Given the description of an element on the screen output the (x, y) to click on. 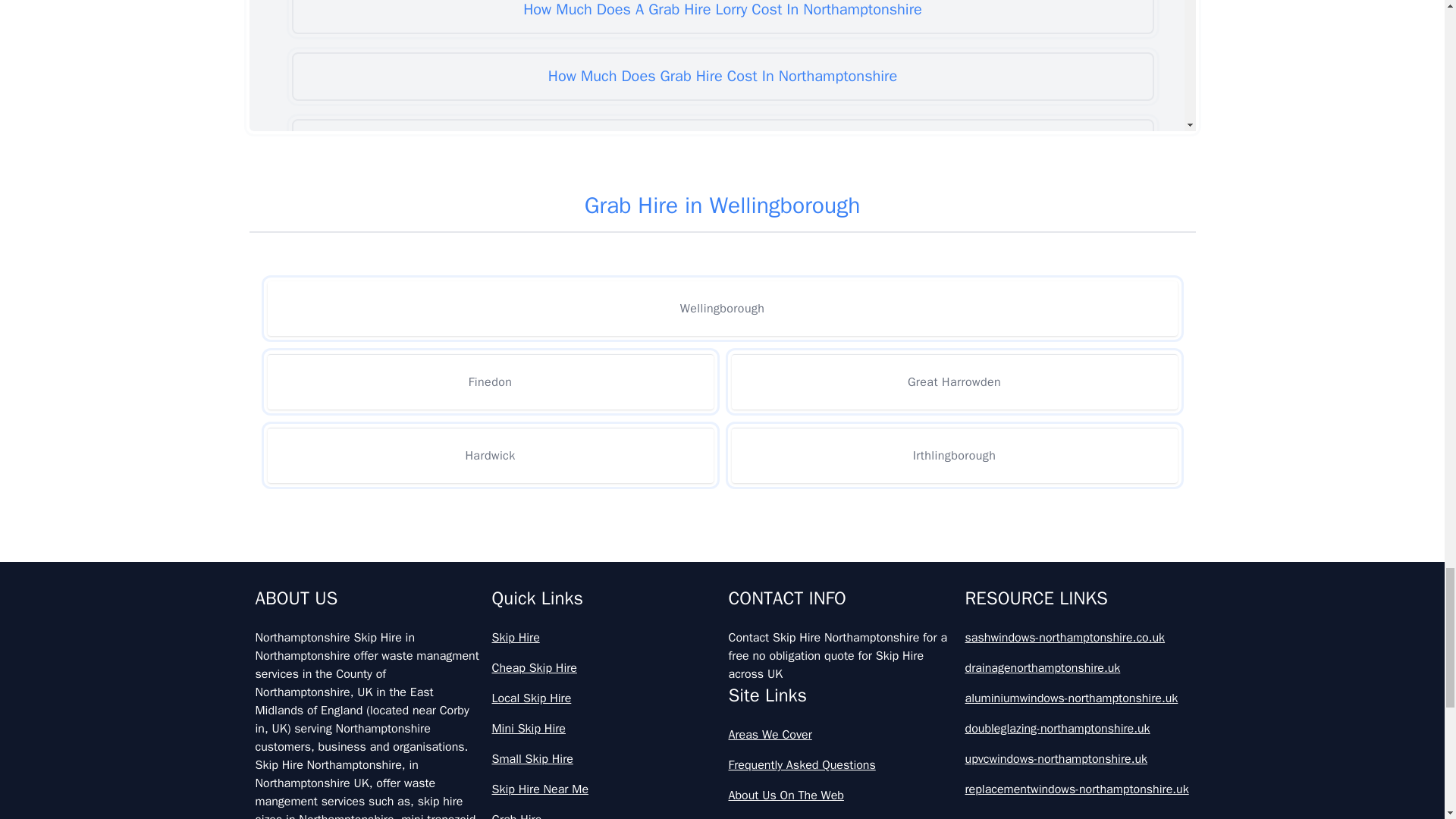
How Much Is Grab Hire In Northamptonshire (722, 409)
How Much Does Grab Hire Cost In Northamptonshire (722, 76)
How Much Is A Grab Lorry To Hire In Northamptonshire (722, 343)
Is Grab Hire Cheaper Than A Skip In Northamptonshire (722, 610)
drainagenorthamptonshire.uk (1076, 668)
upvcwindows-northamptonshire.uk (1076, 759)
How Much To Hire A Grab Lorry In Northamptonshire (722, 543)
How Much Is Grab Lorry Hire In Northamptonshire (722, 476)
How Much Is A Grab Hire In Northamptonshire (722, 276)
